Given the description of an element on the screen output the (x, y) to click on. 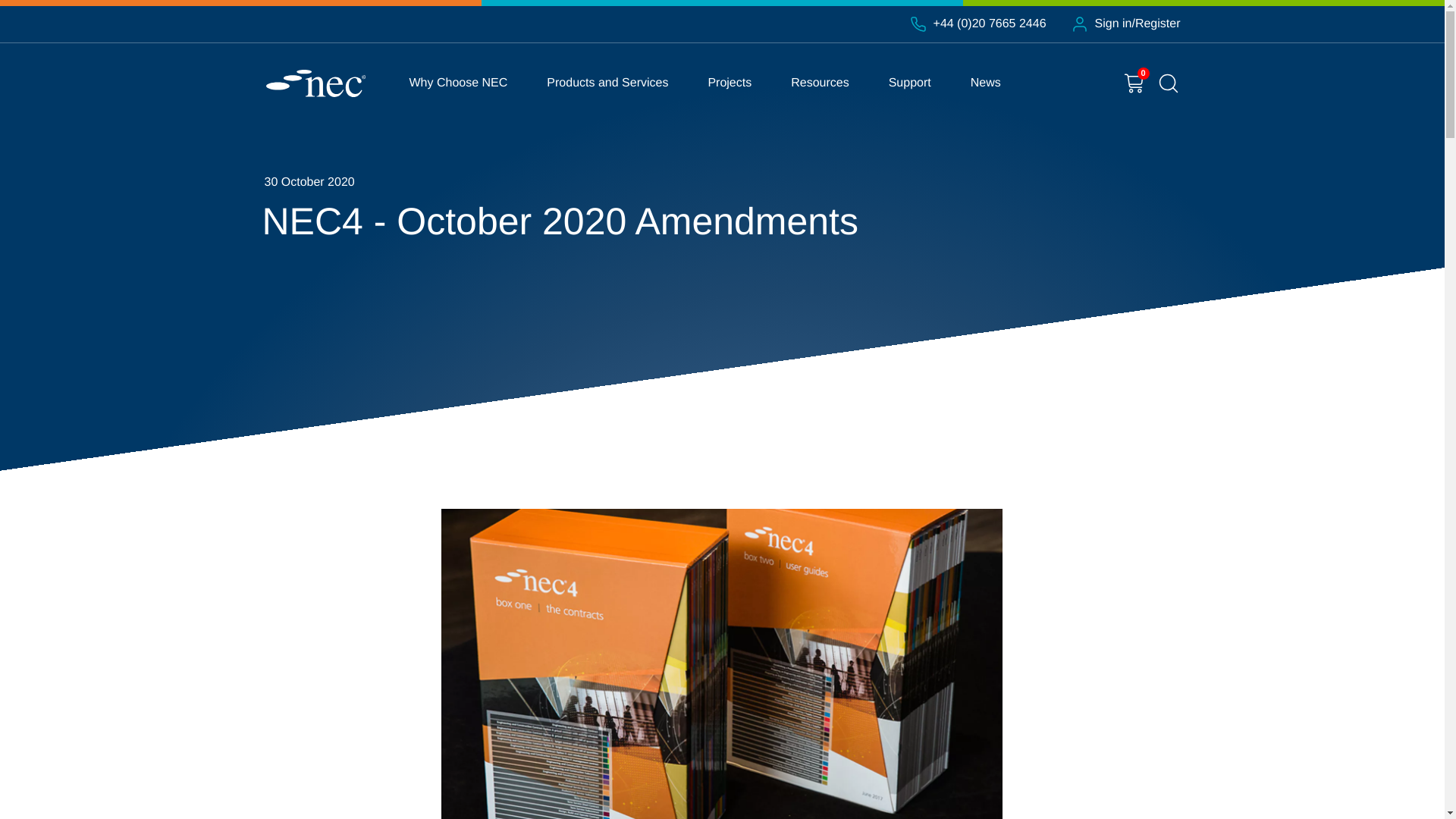
Projects (730, 83)
Products and Services (606, 83)
Why Choose NEC (458, 83)
